Given the description of an element on the screen output the (x, y) to click on. 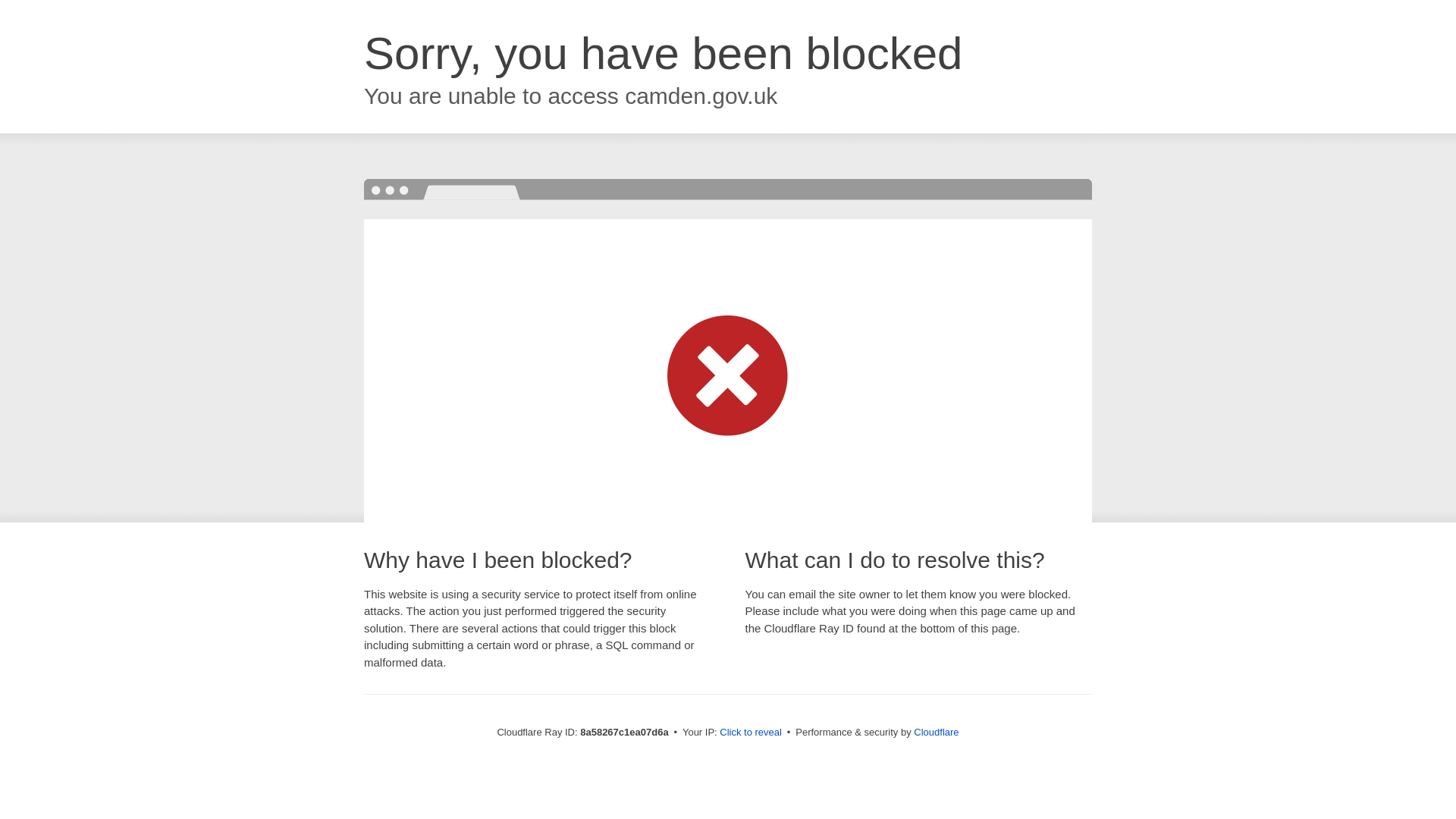
Cloudflare (936, 731)
Click to reveal (750, 732)
